Given the description of an element on the screen output the (x, y) to click on. 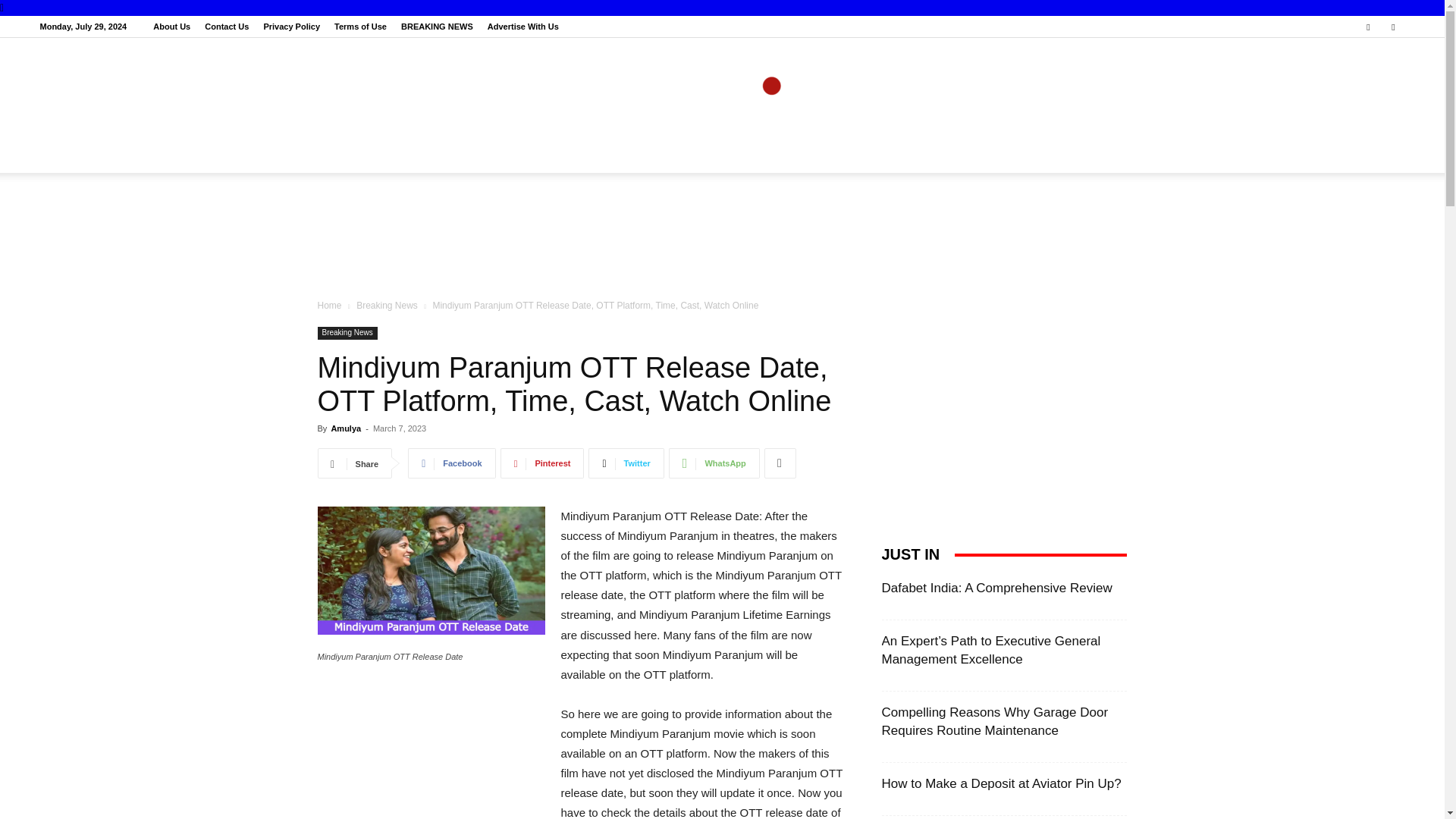
Advertisement (721, 235)
Facebook (451, 462)
Twitter (1393, 25)
Mindiyum Paranjum OTT Release Date (430, 570)
More (780, 462)
Advertisement (430, 751)
Facebook (1367, 25)
Pinterest (542, 462)
Twitter (625, 462)
View all posts in Breaking News (386, 305)
WhatsApp (714, 462)
